Given the description of an element on the screen output the (x, y) to click on. 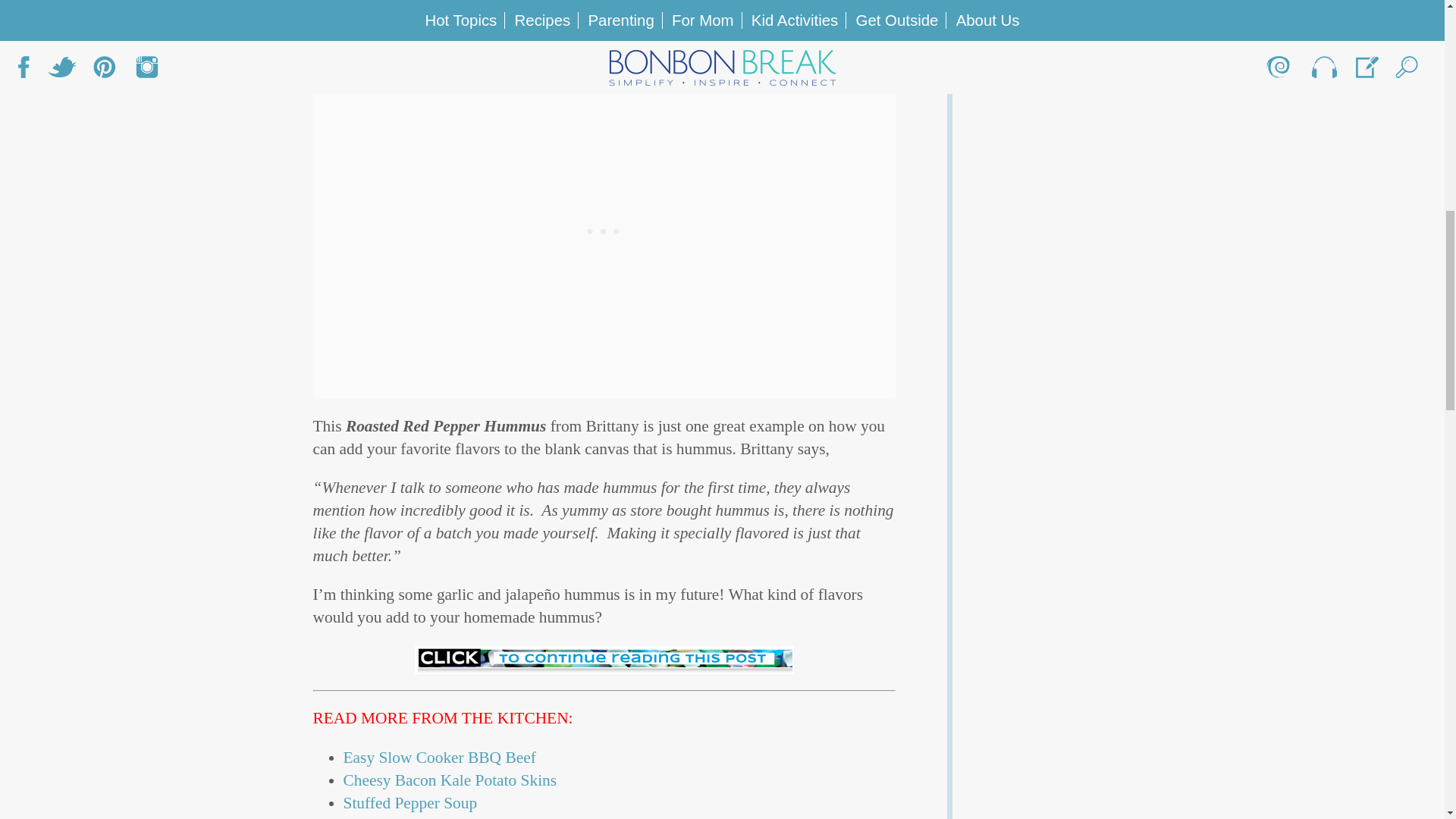
Easy Slow Cooker BBQ Beef  (441, 757)
Cheesy Bacon Kale Potato Skins  (451, 780)
Stuffed Pepper Soup  (411, 802)
